Given the description of an element on the screen output the (x, y) to click on. 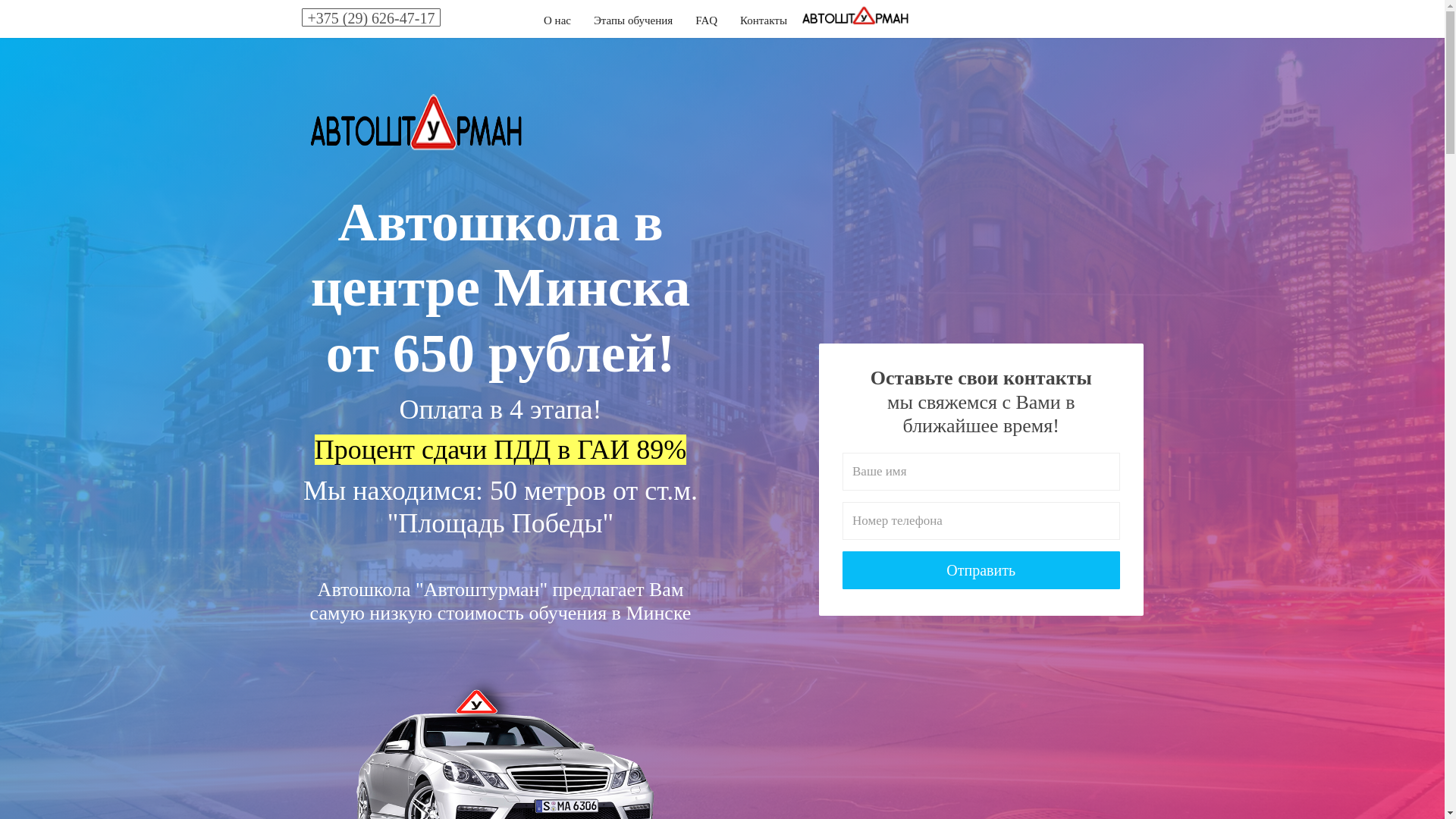
+375 (29) 626-47-17 Element type: text (371, 17)
FAQ Element type: text (706, 19)
